Given the description of an element on the screen output the (x, y) to click on. 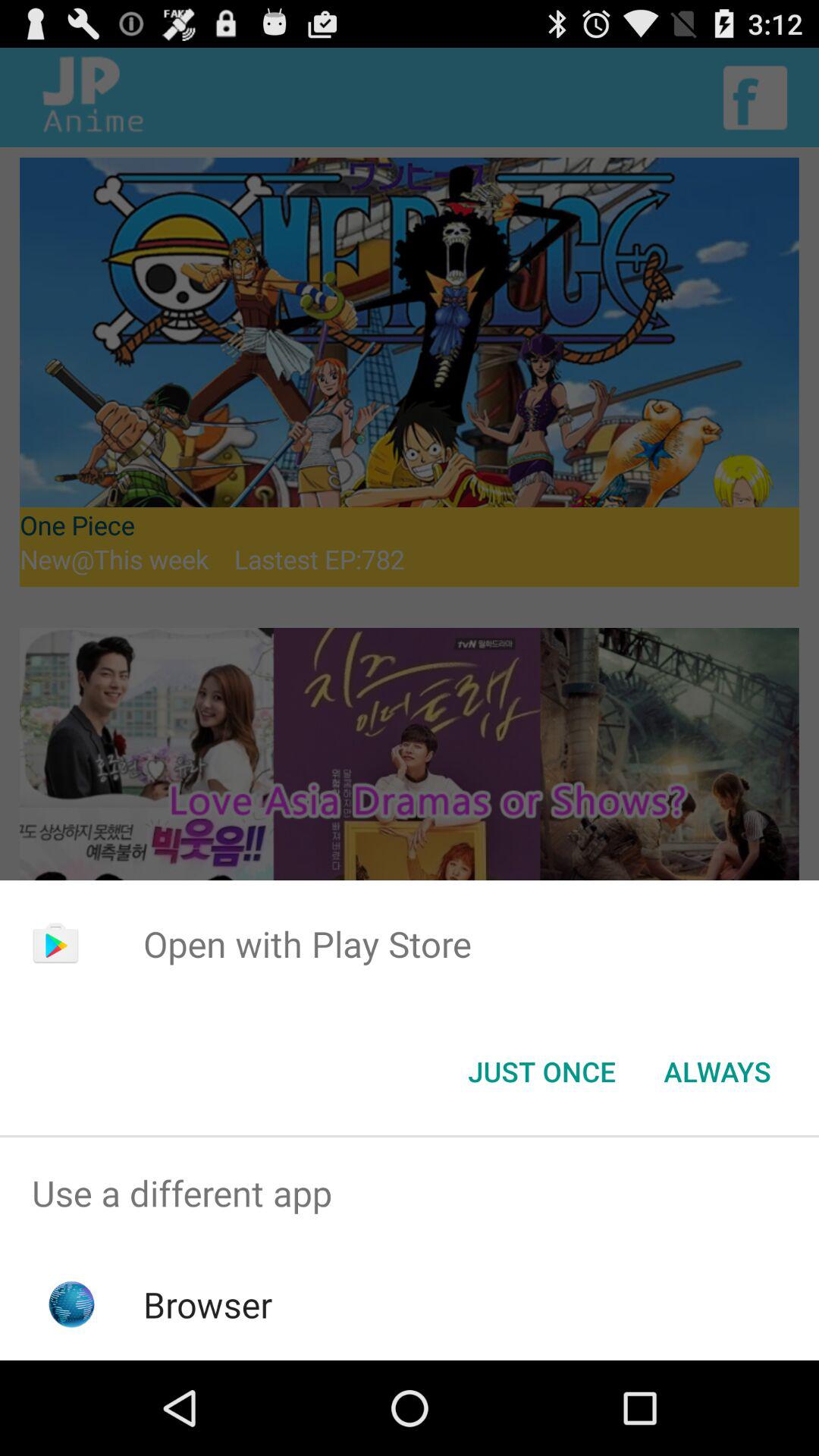
flip until the browser (207, 1304)
